Given the description of an element on the screen output the (x, y) to click on. 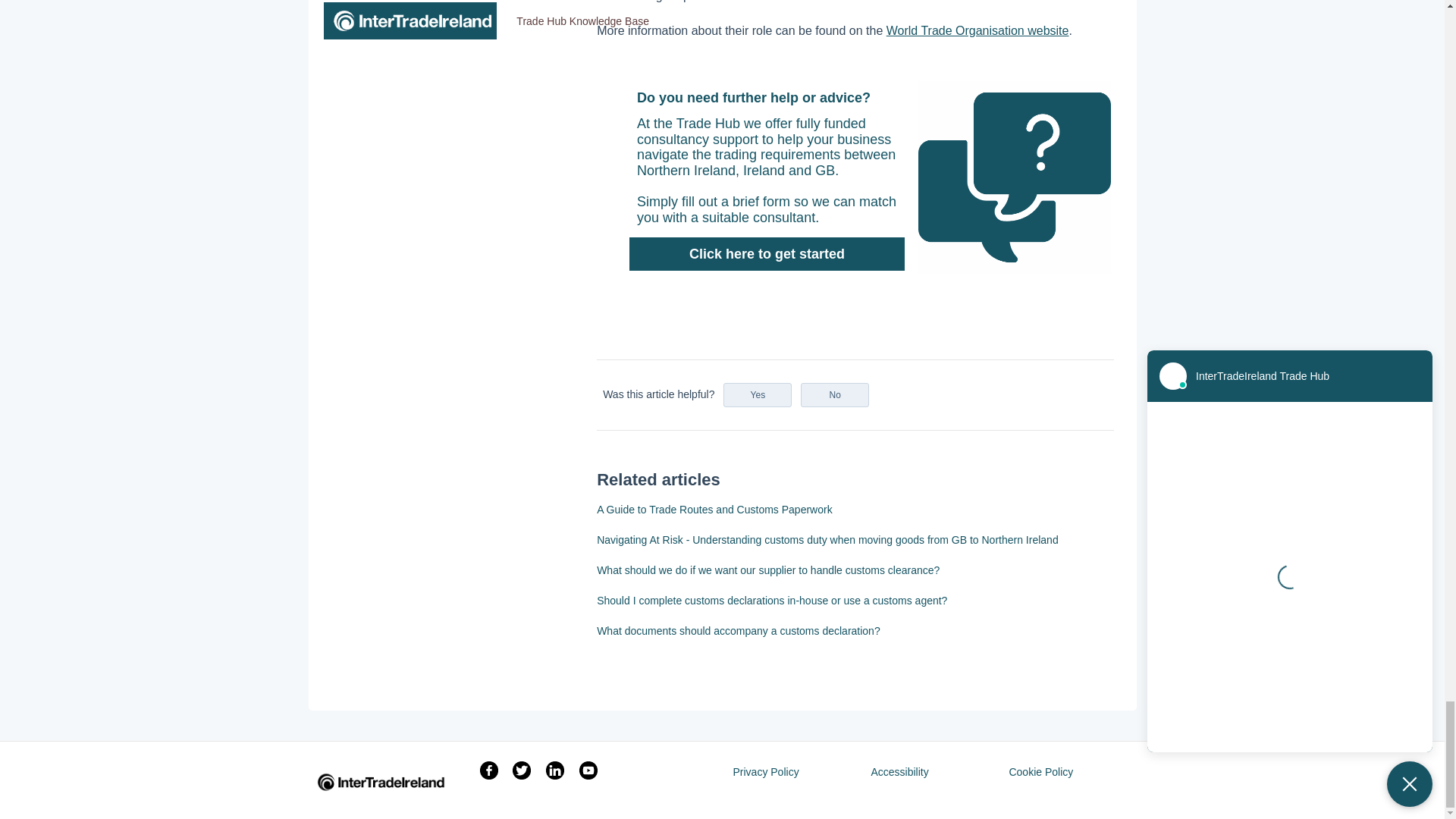
Embedded CTA (854, 177)
